Given the description of an element on the screen output the (x, y) to click on. 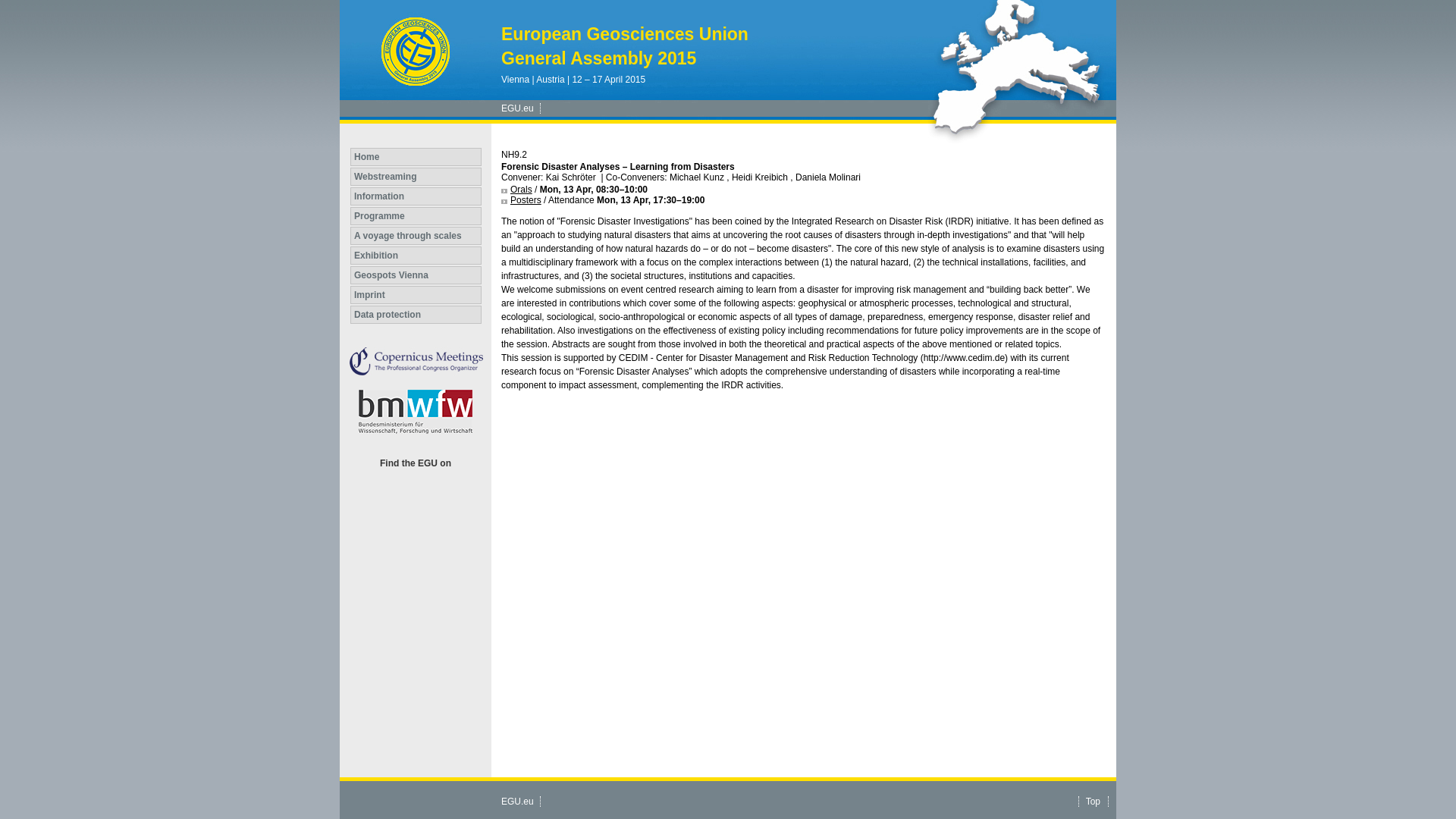
Data protection (415, 314)
Geospots Vienna (415, 275)
A voyage through scales (415, 235)
Home (415, 157)
Programme (415, 216)
Imprint (415, 294)
Exhibition (415, 255)
Orals (516, 189)
Information (415, 196)
Top (1093, 801)
Webstreaming (415, 176)
EGU.eu (517, 108)
Posters (520, 199)
EGU.eu (517, 801)
